Given the description of an element on the screen output the (x, y) to click on. 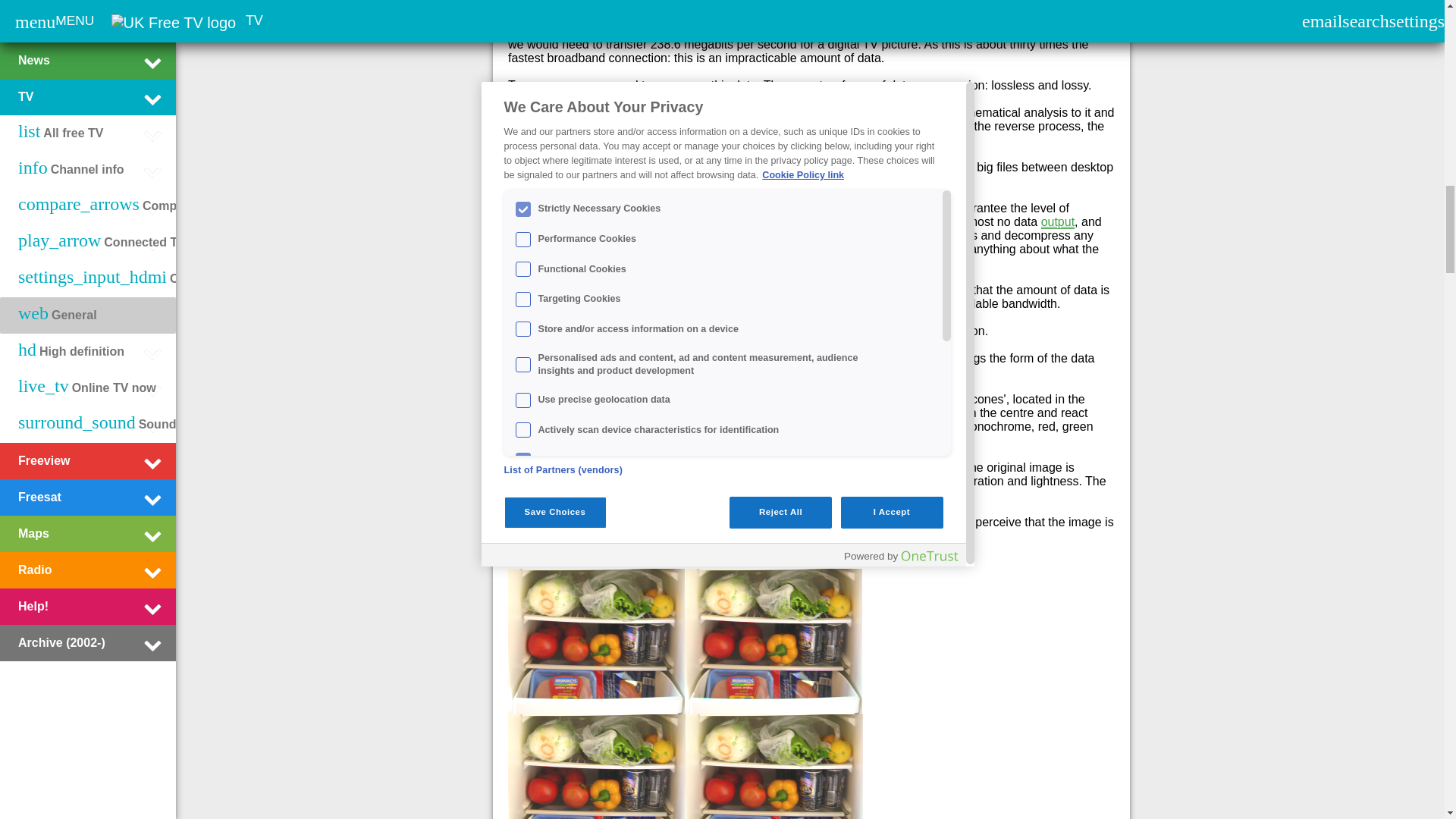
CLICK TO READ  UK Free TV Money Saver - This is the UK  (537, 84)
